Given the description of an element on the screen output the (x, y) to click on. 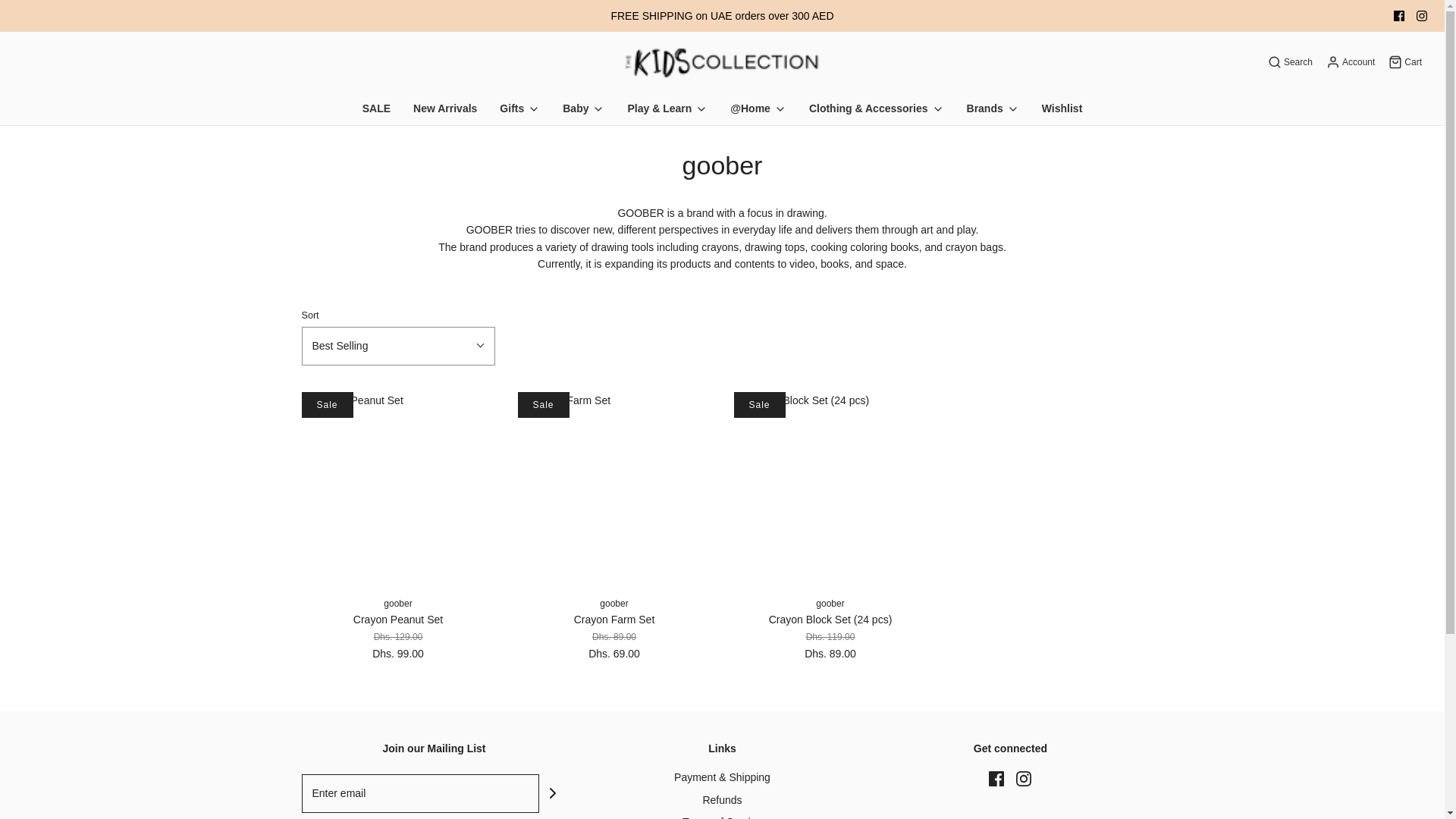
Search (1423, 6)
Facebook icon (996, 778)
Crayon Farm Set (613, 488)
Crayon Peanut Set (398, 488)
Cart (1404, 62)
Facebook icon (1399, 15)
Log in (1348, 62)
Instagram icon (1421, 15)
Facebook icon (1399, 15)
goober (613, 603)
goober (398, 603)
Search (1289, 62)
Instagram icon (1421, 15)
goober (829, 603)
Instagram icon (1023, 778)
